Given the description of an element on the screen output the (x, y) to click on. 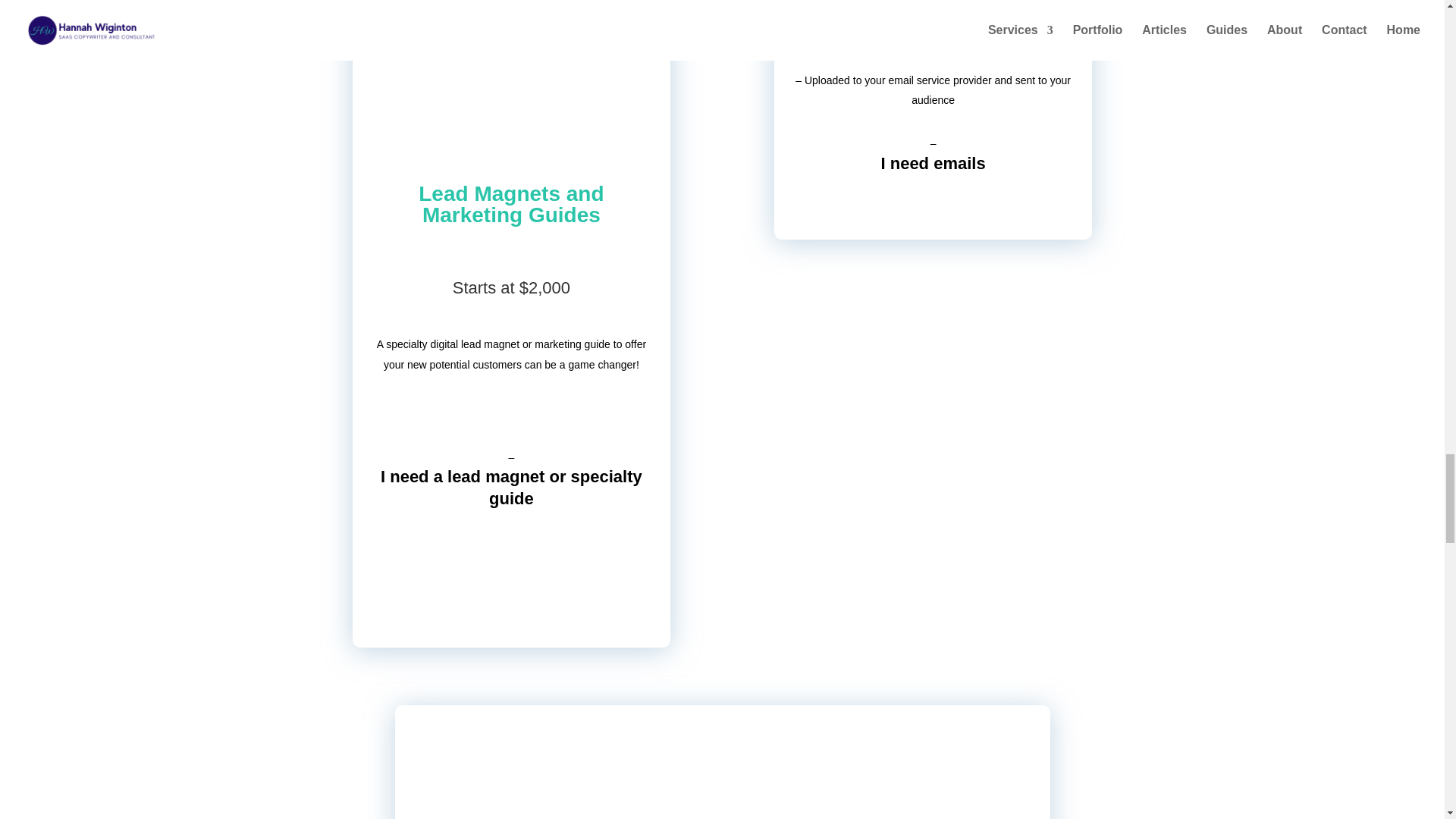
I need emails (932, 162)
I need a lead magnet or specialty guide (511, 486)
